Given the description of an element on the screen output the (x, y) to click on. 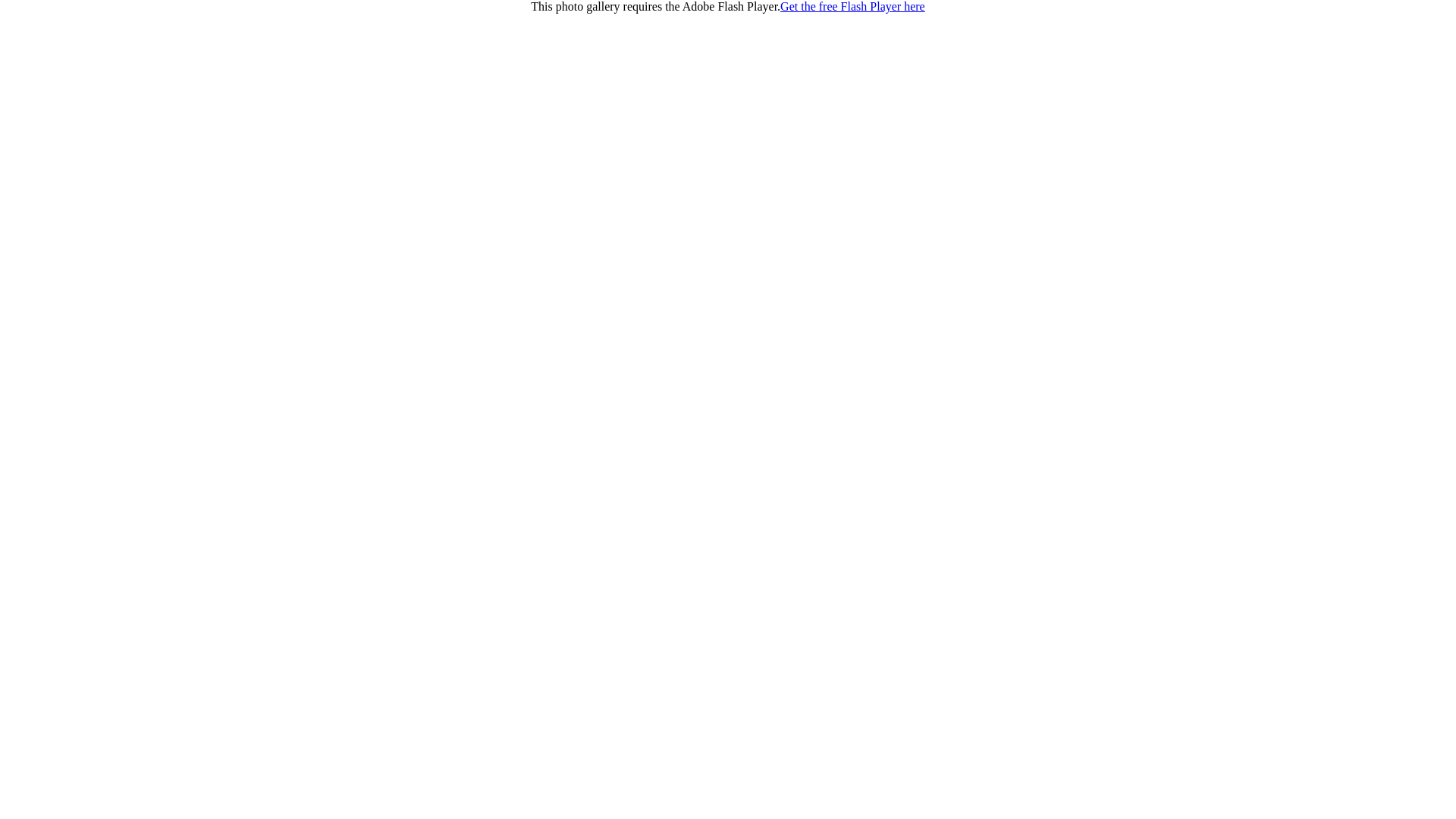
Get the free Flash Player here Element type: text (852, 6)
